Given the description of an element on the screen output the (x, y) to click on. 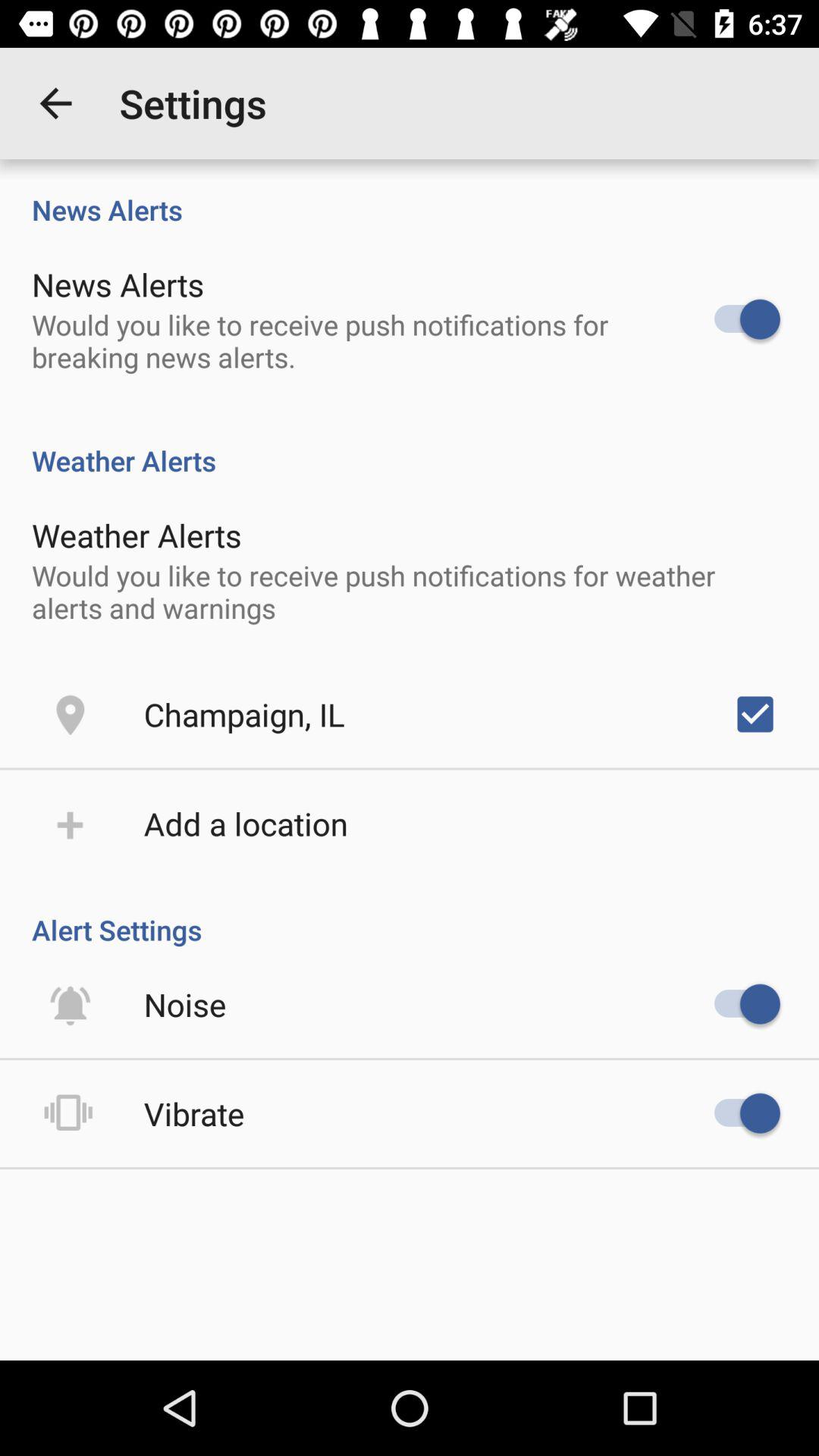
tap the item on the right (755, 714)
